Given the description of an element on the screen output the (x, y) to click on. 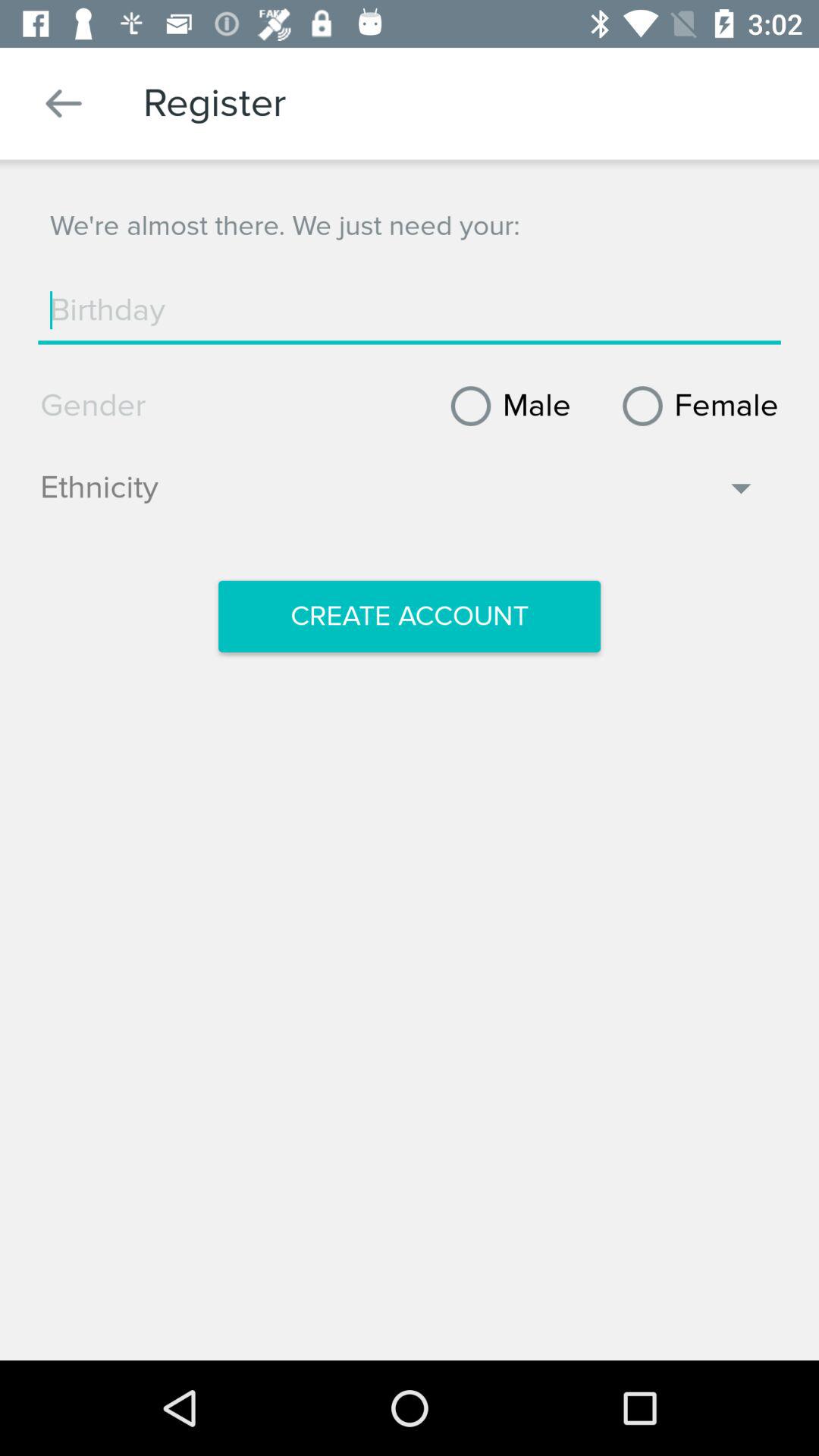
turn off icon below male item (399, 494)
